Given the description of an element on the screen output the (x, y) to click on. 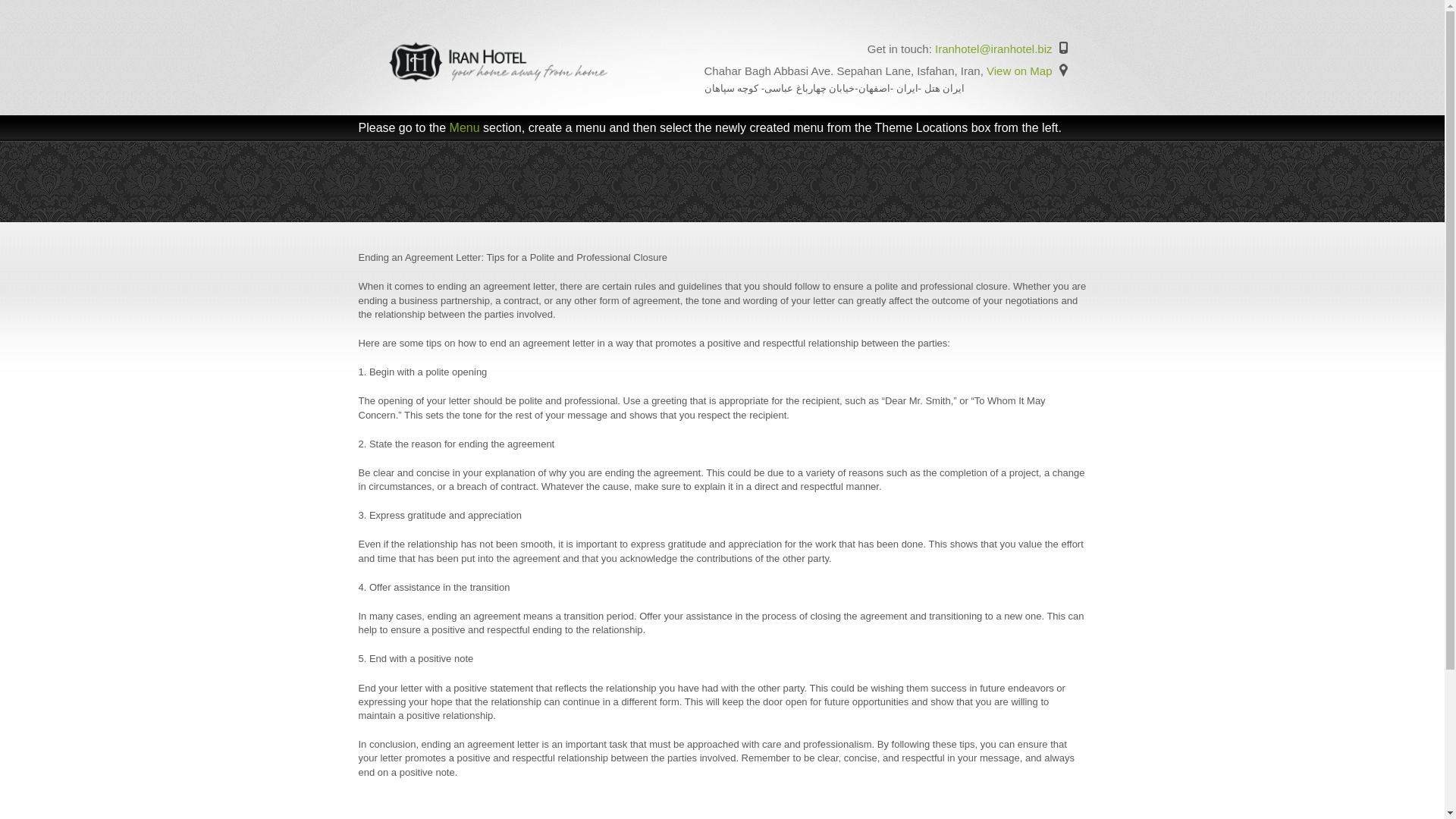
Your home away from home (498, 81)
View on Map (1019, 70)
Menu (464, 127)
